Given the description of an element on the screen output the (x, y) to click on. 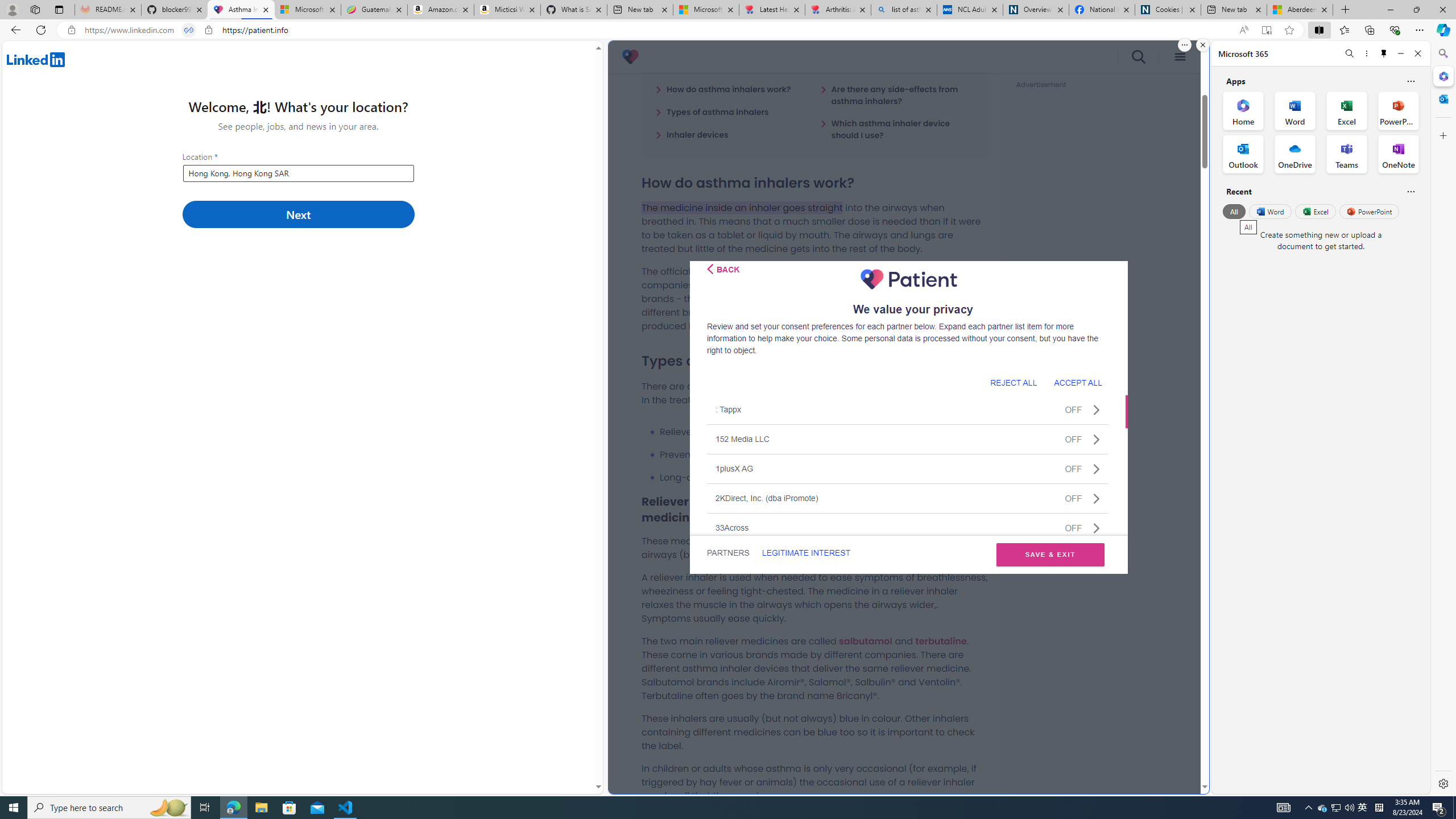
: TappxOFF (907, 409)
1plusX AGOFF (907, 468)
Excel Office App (1346, 110)
REJECT ALL (1013, 382)
Class: css-i5klq5 (710, 268)
list of asthma inhalers uk - Search (904, 9)
NCL Adult Asthma Inhaler Choice Guideline (969, 9)
Types of asthma inhalers (711, 111)
